Given the description of an element on the screen output the (x, y) to click on. 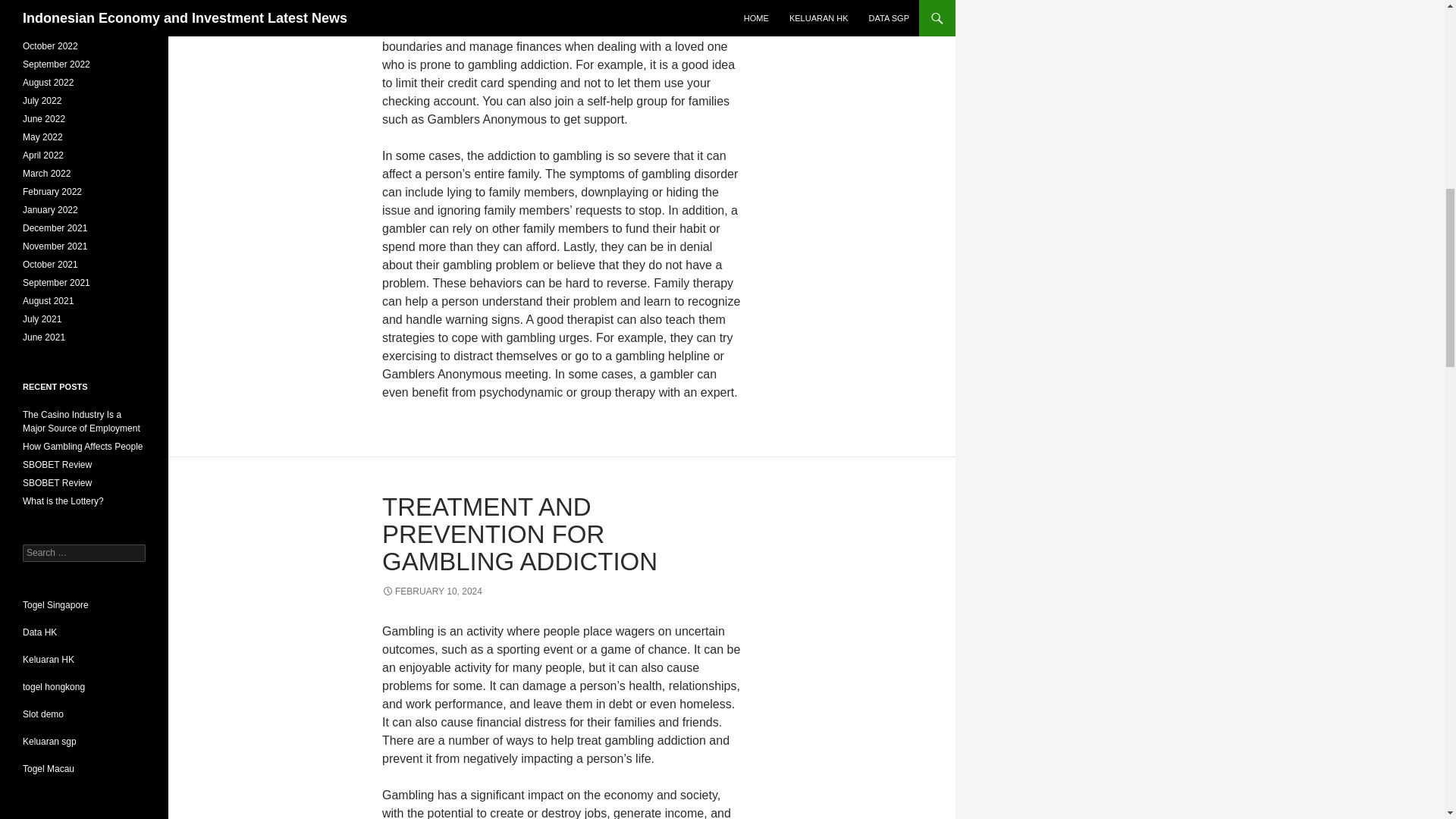
FEBRUARY 10, 2024 (431, 591)
TREATMENT AND PREVENTION FOR GAMBLING ADDICTION (519, 534)
